Given the description of an element on the screen output the (x, y) to click on. 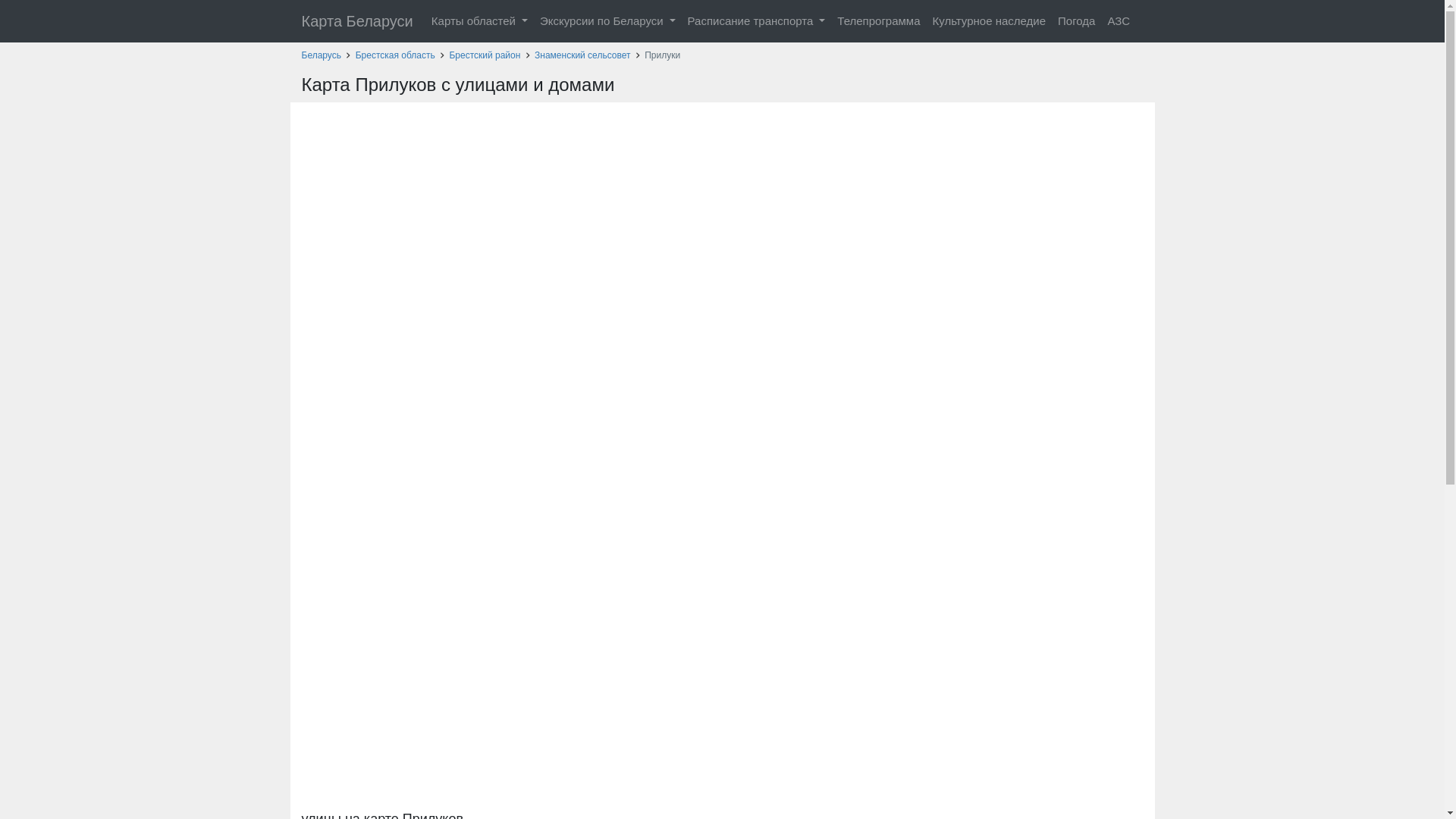
Advertisement Element type: hover (721, 136)
Advertisement Element type: hover (721, 693)
